Given the description of an element on the screen output the (x, y) to click on. 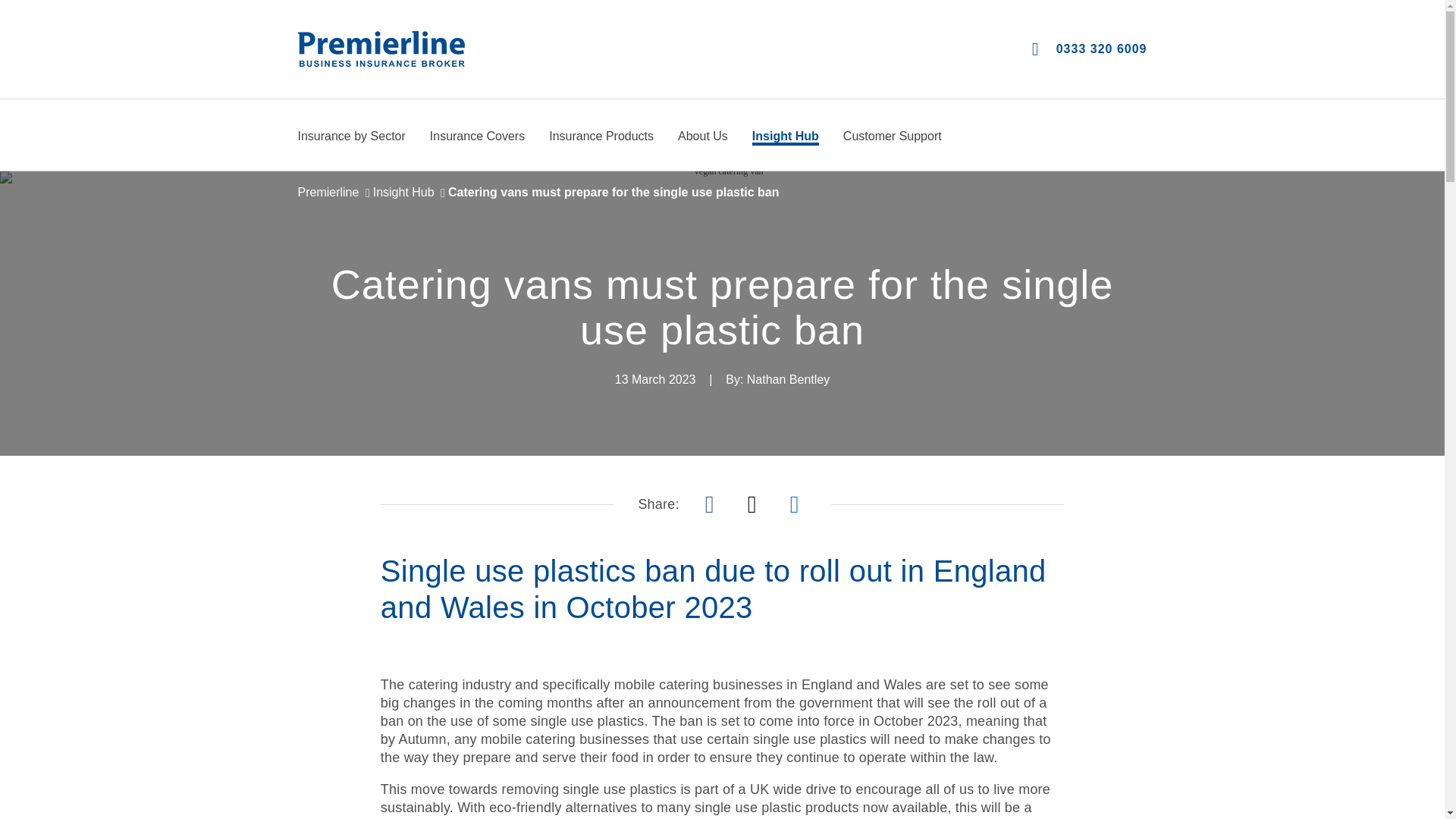
Insurance by Sector (350, 137)
Share on LinkedIn (794, 504)
Share on Facebook (709, 504)
0333 320 6009 (1089, 49)
